Given the description of an element on the screen output the (x, y) to click on. 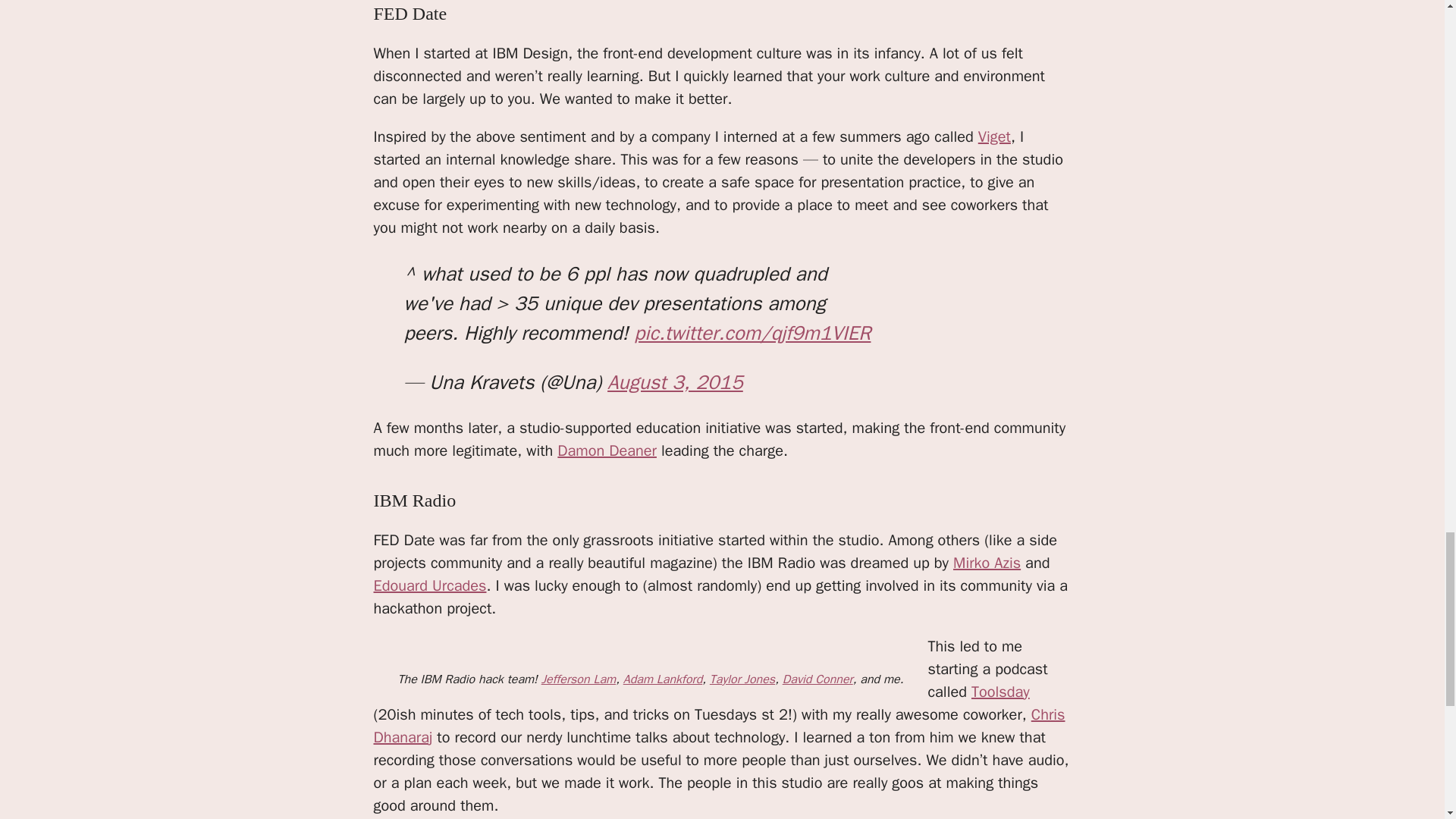
David Conner (818, 679)
Taylor Jones (742, 679)
Jefferson Lam (578, 679)
Damon Deaner (606, 450)
Adam Lankford (663, 679)
Toolsday (1000, 691)
Edouard Urcades (429, 585)
Viget (994, 136)
August 3, 2015 (674, 382)
Mirko Azis (986, 562)
